Given the description of an element on the screen output the (x, y) to click on. 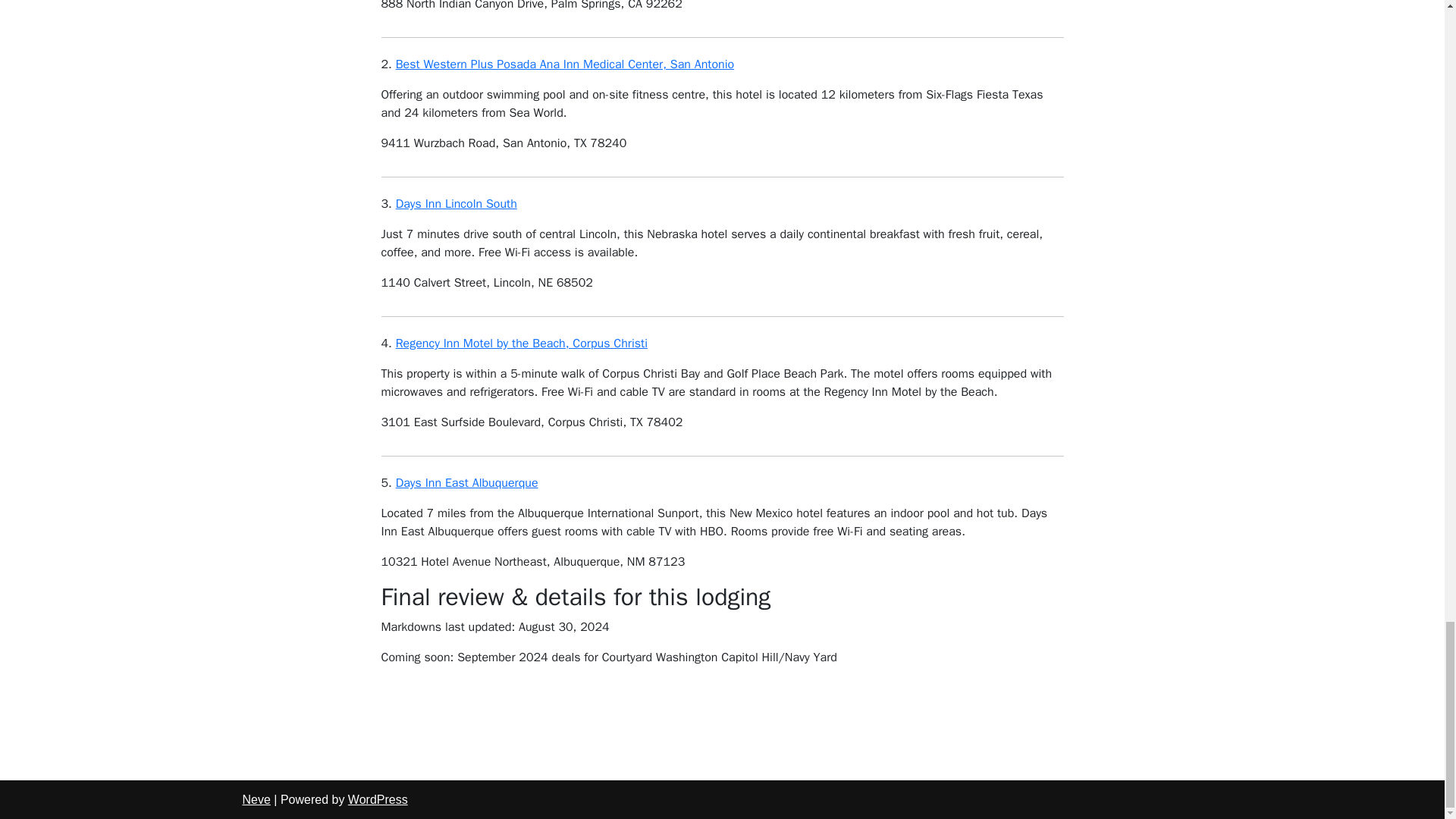
Neve (256, 799)
Days Inn Lincoln South (456, 203)
Regency Inn Motel by the Beach, Corpus Christi (521, 343)
WordPress (377, 799)
Best Western Plus Posada Ana Inn Medical Center, San Antonio (564, 64)
Days Inn East Albuquerque (467, 482)
